Given the description of an element on the screen output the (x, y) to click on. 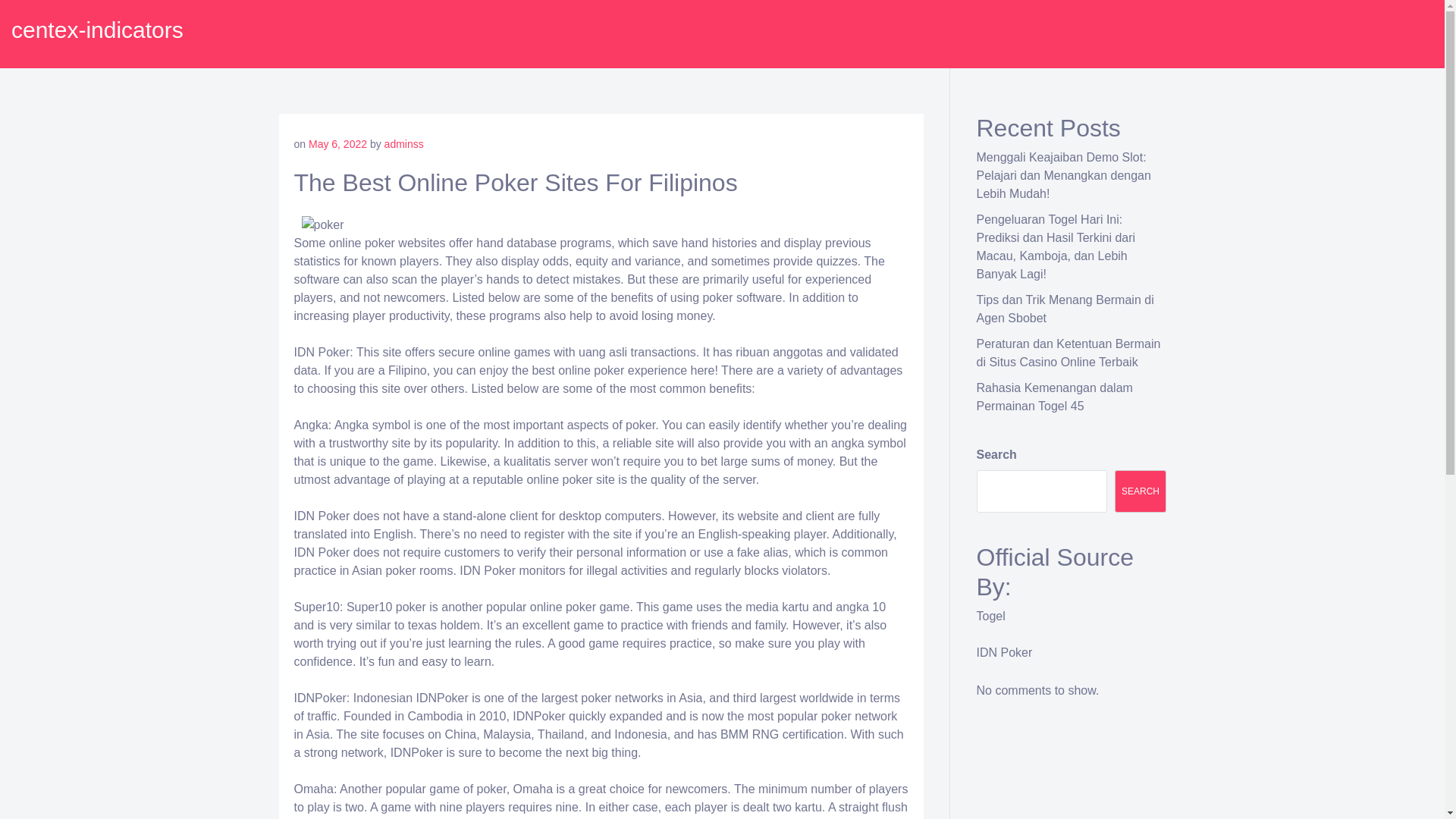
Rahasia Kemenangan dalam Permainan Togel 45 (1054, 396)
adminss (403, 143)
centex-indicators (97, 29)
IDN Poker (1004, 652)
SEARCH (1140, 491)
May 6, 2022 (337, 143)
Togel (991, 615)
Tips dan Trik Menang Bermain di Agen Sbobet (1065, 308)
